Given the description of an element on the screen output the (x, y) to click on. 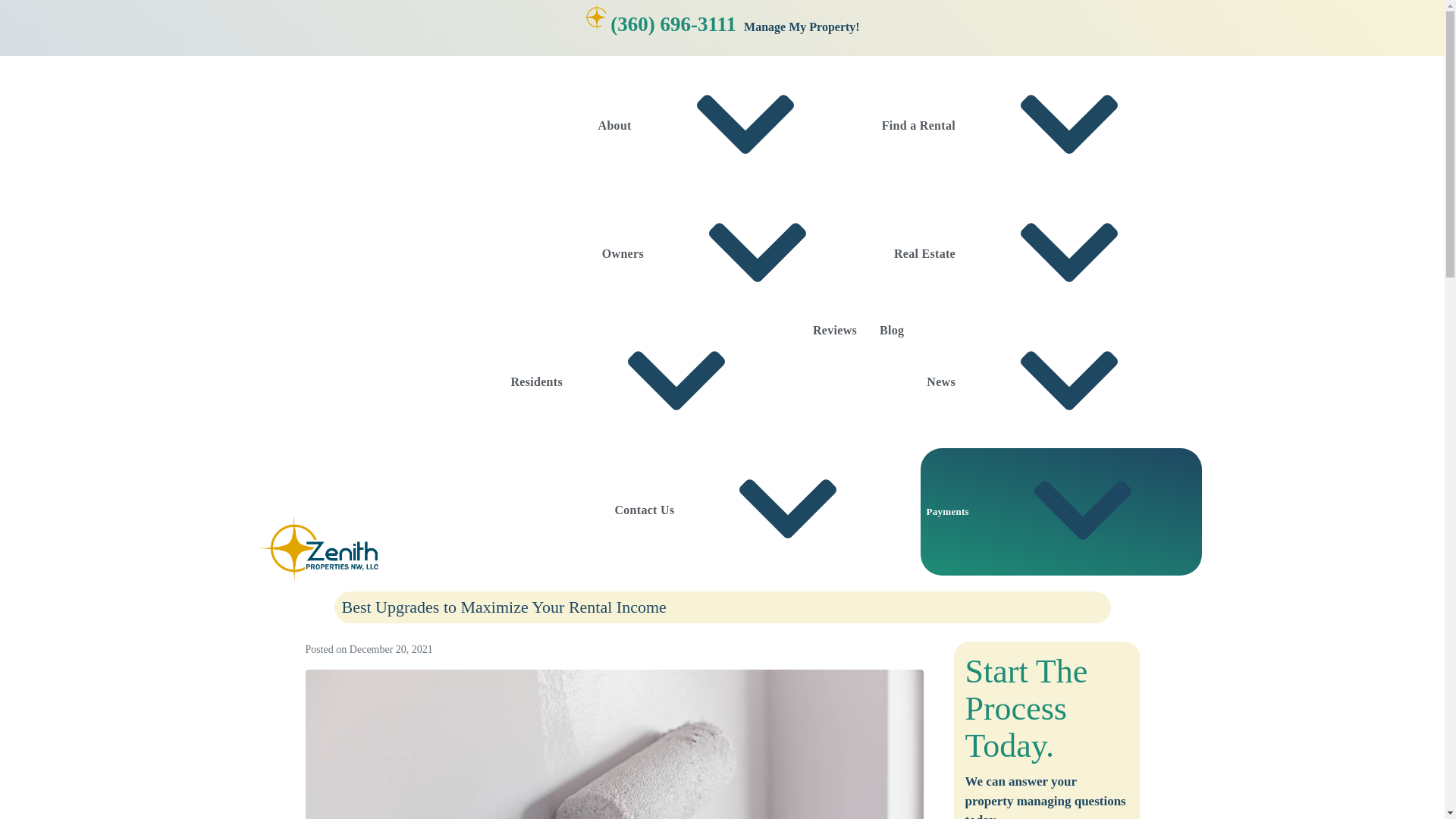
Real Estate (1037, 255)
Contact Us (757, 511)
Residents (649, 383)
Payments (1061, 511)
News (1054, 383)
Owners (736, 255)
About (728, 127)
Blog (891, 332)
Find a Rental (1031, 127)
Reviews (834, 332)
